Given the description of an element on the screen output the (x, y) to click on. 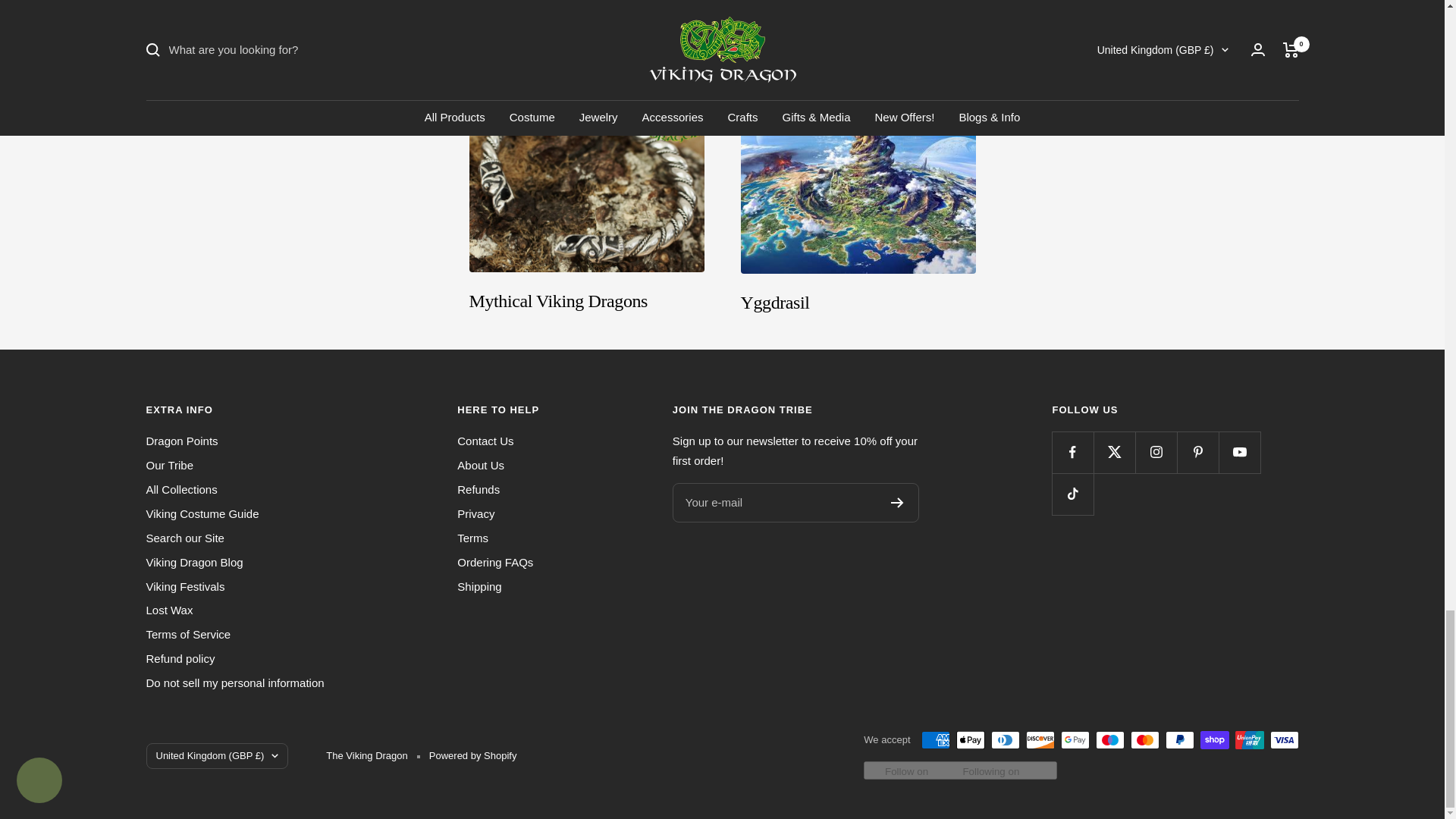
Register (897, 502)
